Given the description of an element on the screen output the (x, y) to click on. 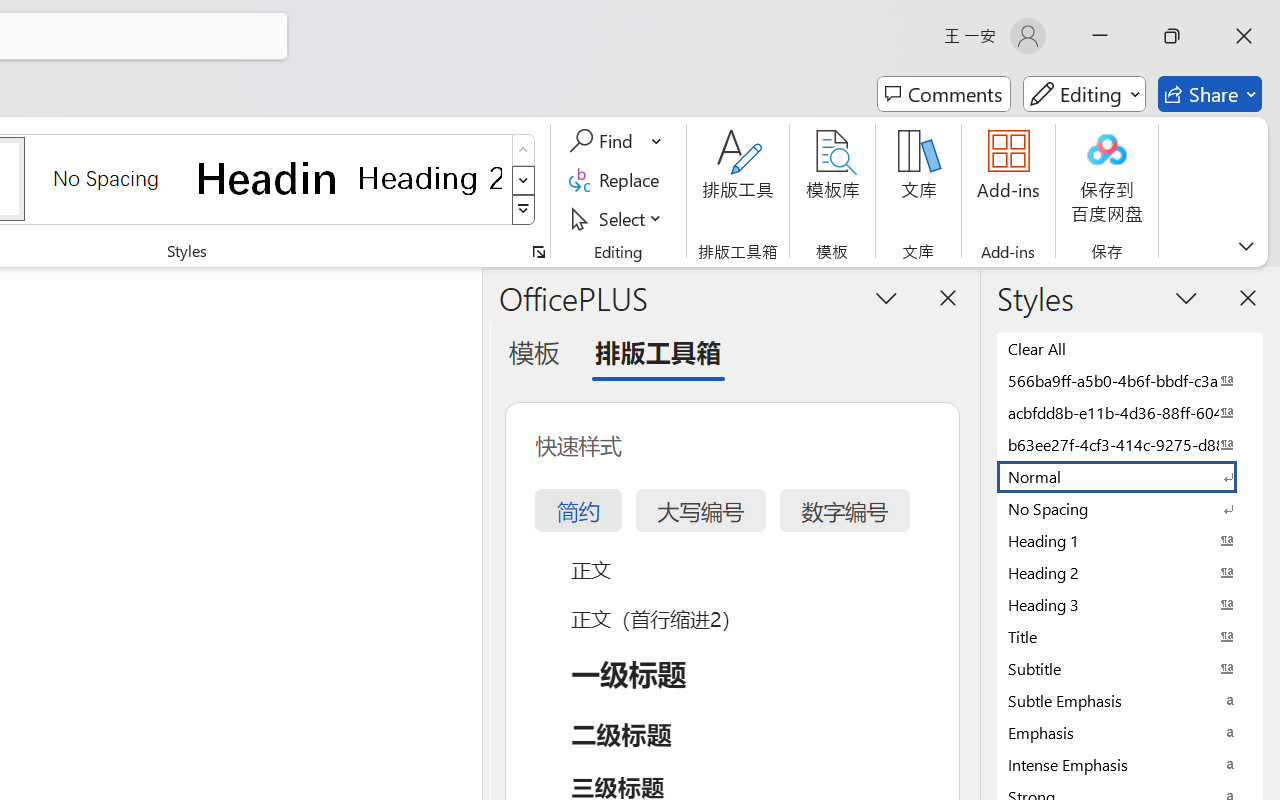
Row up (523, 150)
Title (1130, 636)
Clear All (1130, 348)
Class: NetUIImage (523, 210)
Emphasis (1130, 732)
Subtle Emphasis (1130, 700)
Normal (1130, 476)
